Given the description of an element on the screen output the (x, y) to click on. 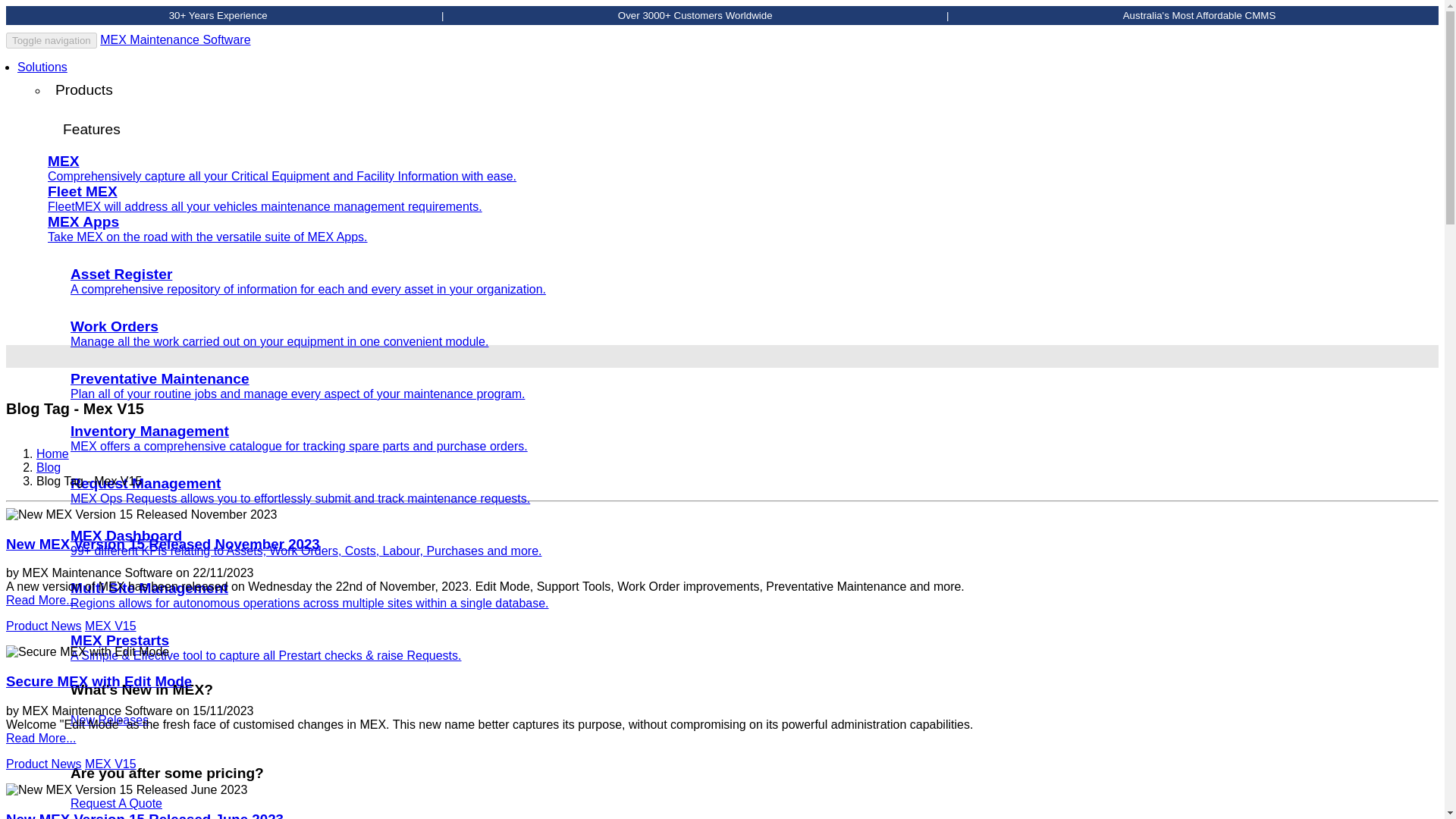
Toggle navigation (51, 40)
MEX Maintenance Experts (175, 39)
New Releases (108, 719)
Request A Quote (115, 802)
MEX Maintenance Software (175, 39)
